Given the description of an element on the screen output the (x, y) to click on. 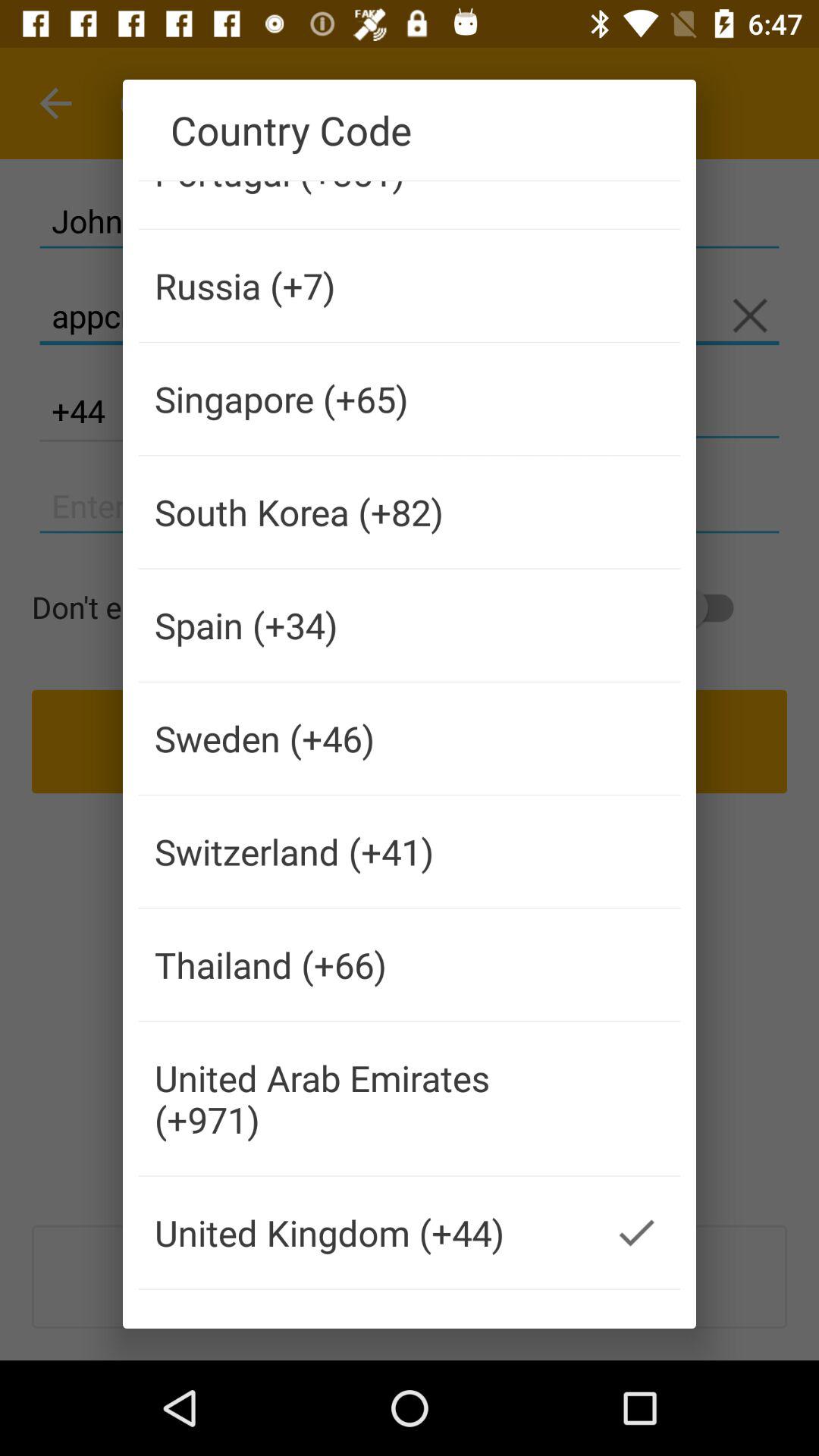
tap united kingdom (+44) (365, 1232)
